Given the description of an element on the screen output the (x, y) to click on. 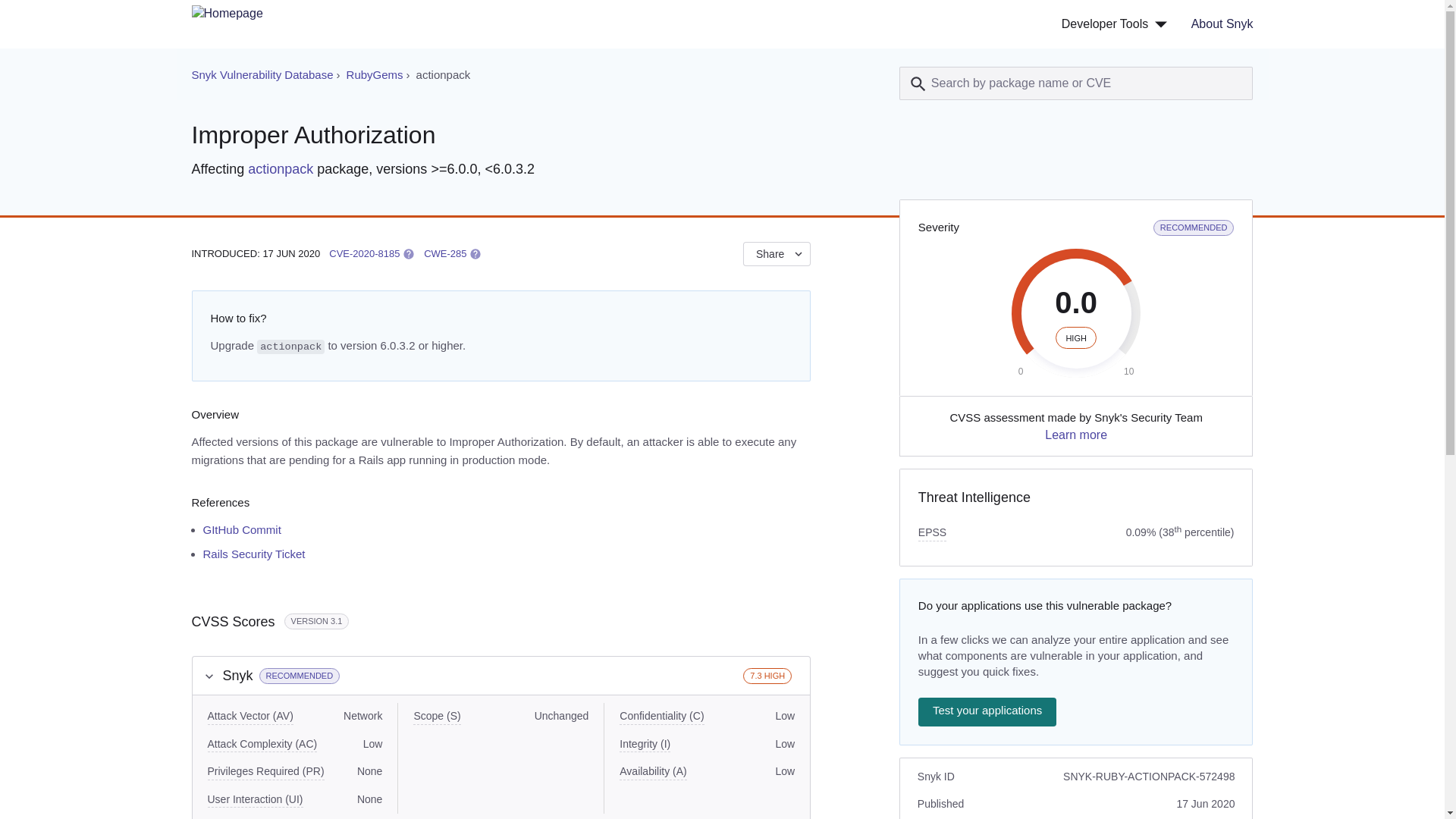
Test your applications (987, 711)
Expand this section (209, 676)
Learn more (363, 253)
GItHub Commit (1075, 434)
About Snyk (242, 529)
Snyk Vulnerability Database (1216, 24)
actionpack (261, 74)
Rails Security Ticket (280, 168)
